Given the description of an element on the screen output the (x, y) to click on. 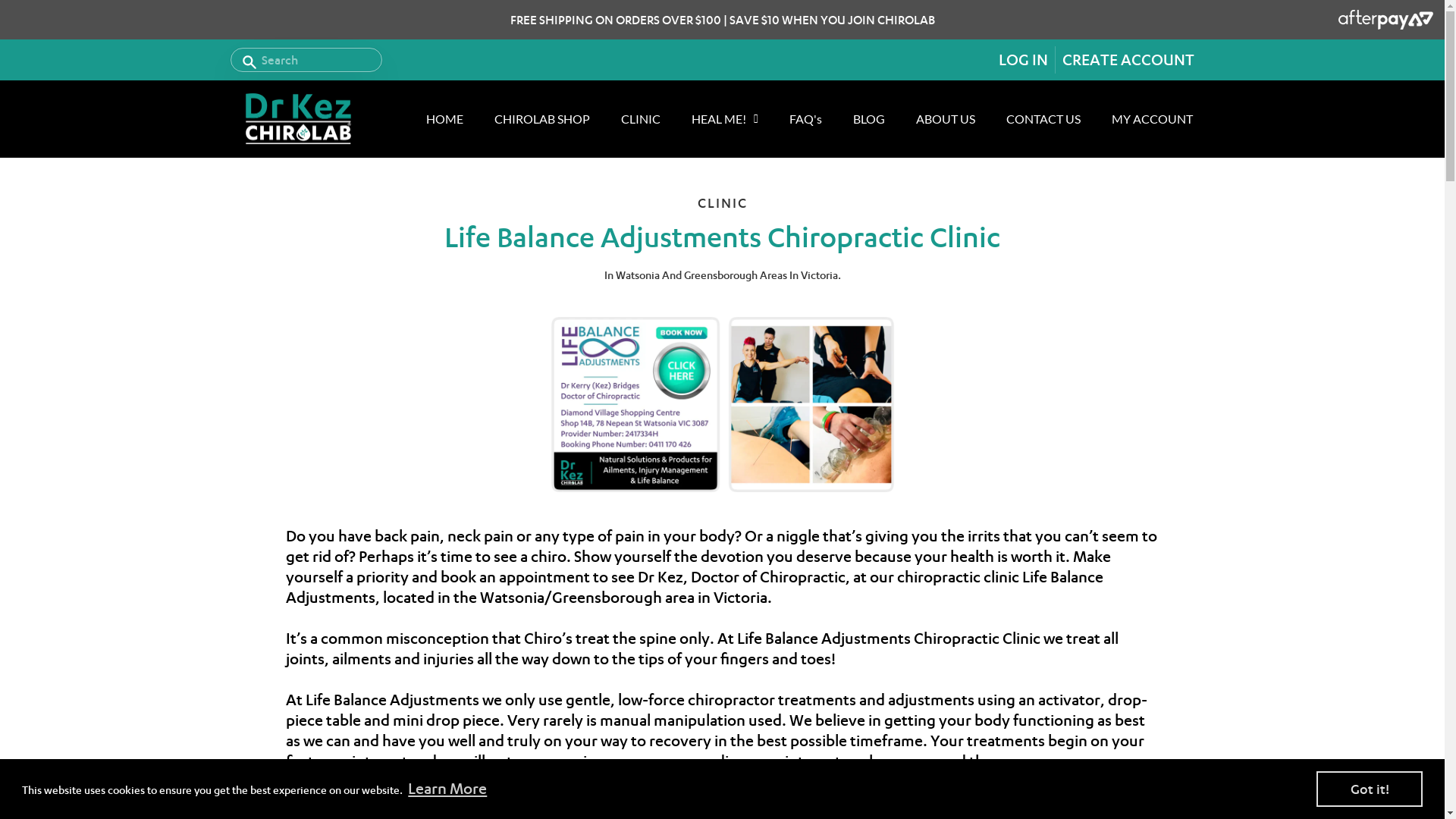
HOME Element type: text (444, 119)
HEAL ME! Element type: text (724, 119)
ABOUT US Element type: text (945, 119)
Got it! Element type: text (1369, 788)
book a Zoom Telehealth appointment Element type: text (648, 802)
CHIROLAB SHOP Element type: text (542, 119)
book an appointment to see Dr Kez Element type: text (560, 576)
CLINIC Element type: text (639, 119)
Learn More Element type: text (447, 788)
CONTACT US Element type: text (1042, 119)
CREATE ACCOUNT Element type: text (1127, 59)
MY ACCOUNT Element type: text (1152, 119)
BLOG Element type: text (868, 119)
FAQ's Element type: text (804, 119)
LOG IN Element type: text (1022, 59)
